Given the description of an element on the screen output the (x, y) to click on. 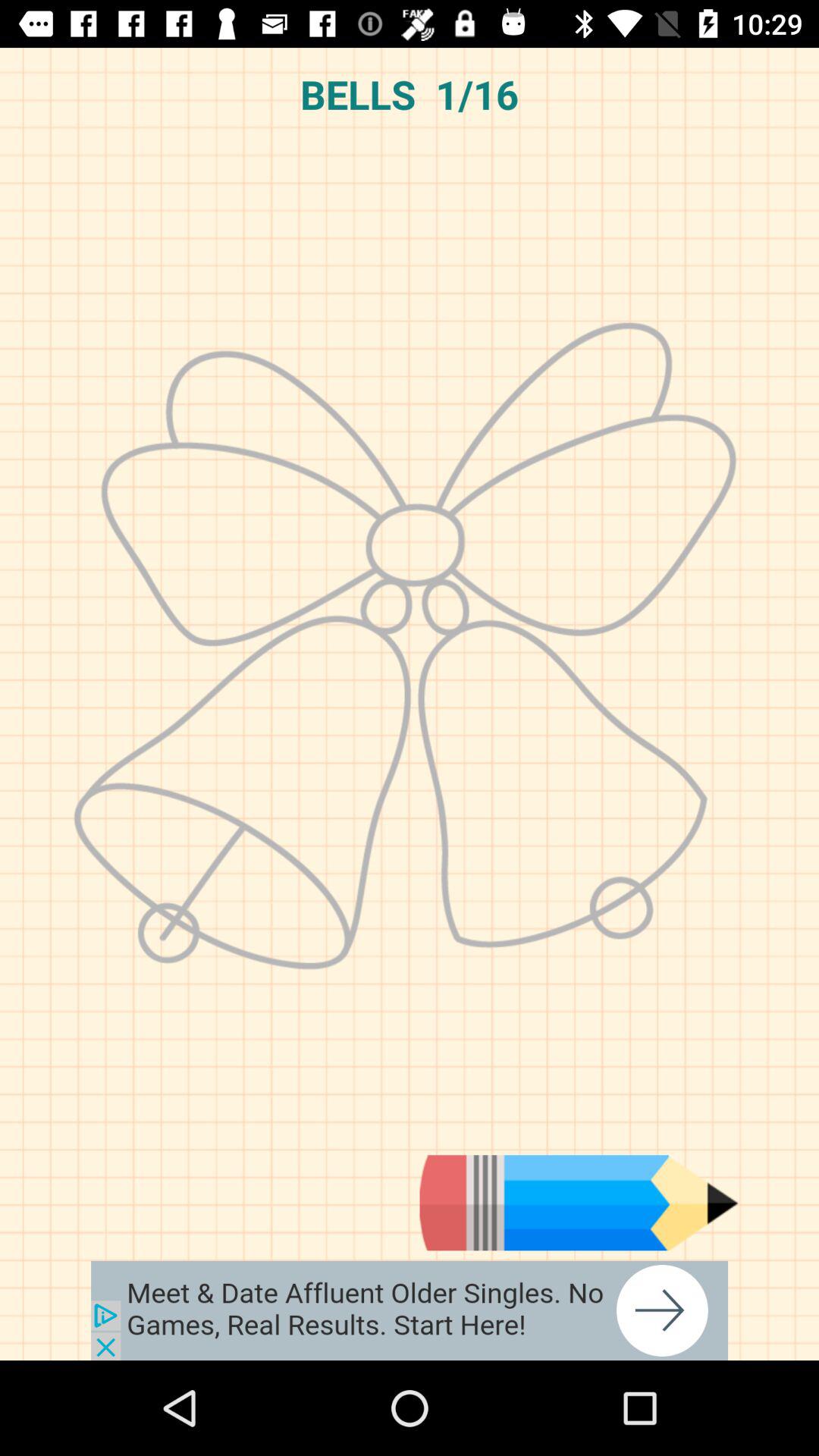
advertisement (409, 1310)
